Given the description of an element on the screen output the (x, y) to click on. 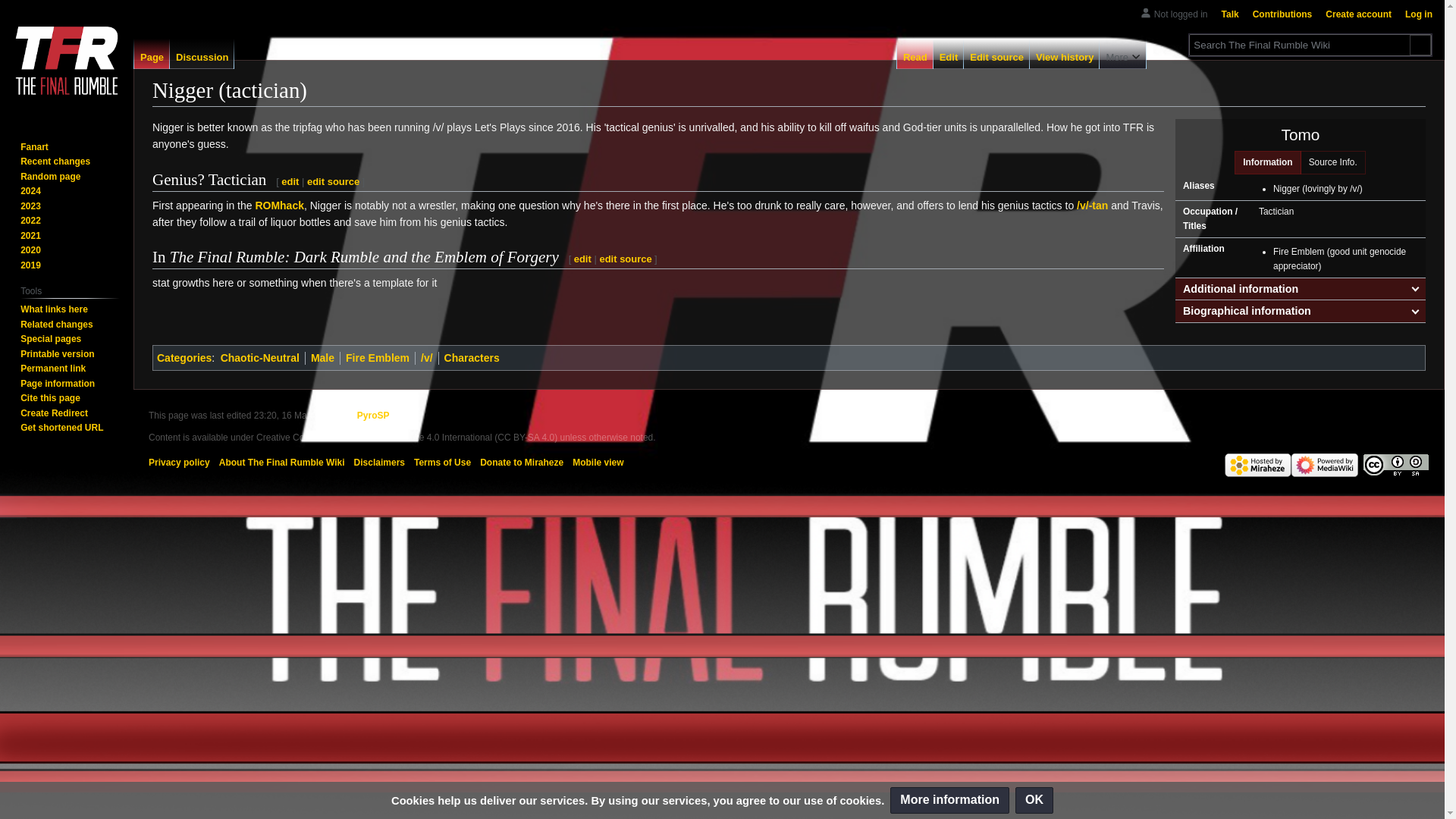
Fanart (34, 146)
Recent changes (55, 161)
Edit section: Genius? Tactician (289, 181)
Go (1420, 45)
OK (1033, 800)
More information (949, 800)
Male (322, 357)
Page (151, 53)
edit source (333, 181)
